Given the description of an element on the screen output the (x, y) to click on. 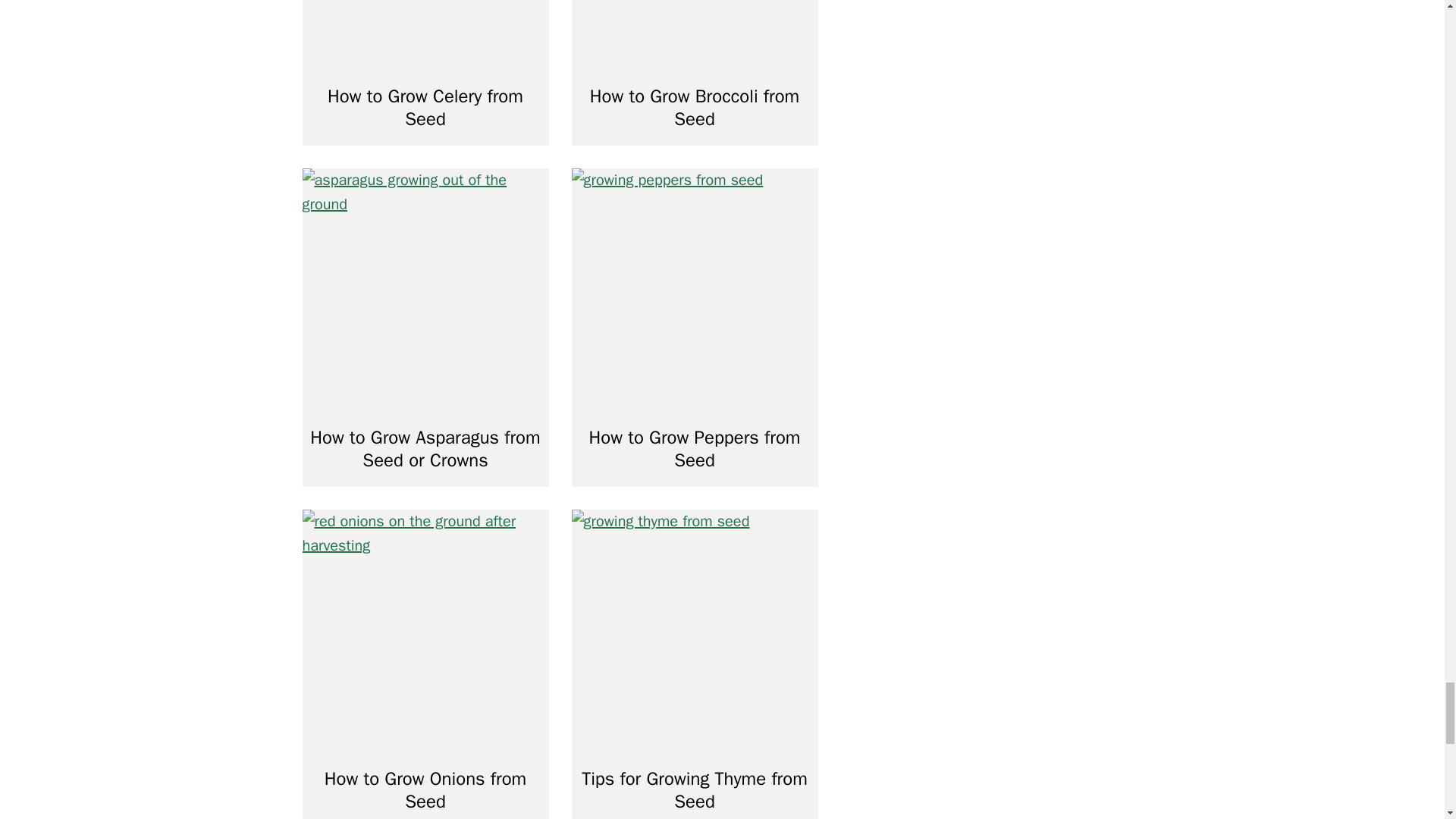
How to Grow Celery from Seed (424, 107)
How to Grow Broccoli from Seed (694, 107)
How to Grow Onions from Seed (424, 790)
How to Grow Peppers from Seed (694, 448)
How to Grow Asparagus from Seed or Crowns (424, 448)
